Given the description of an element on the screen output the (x, y) to click on. 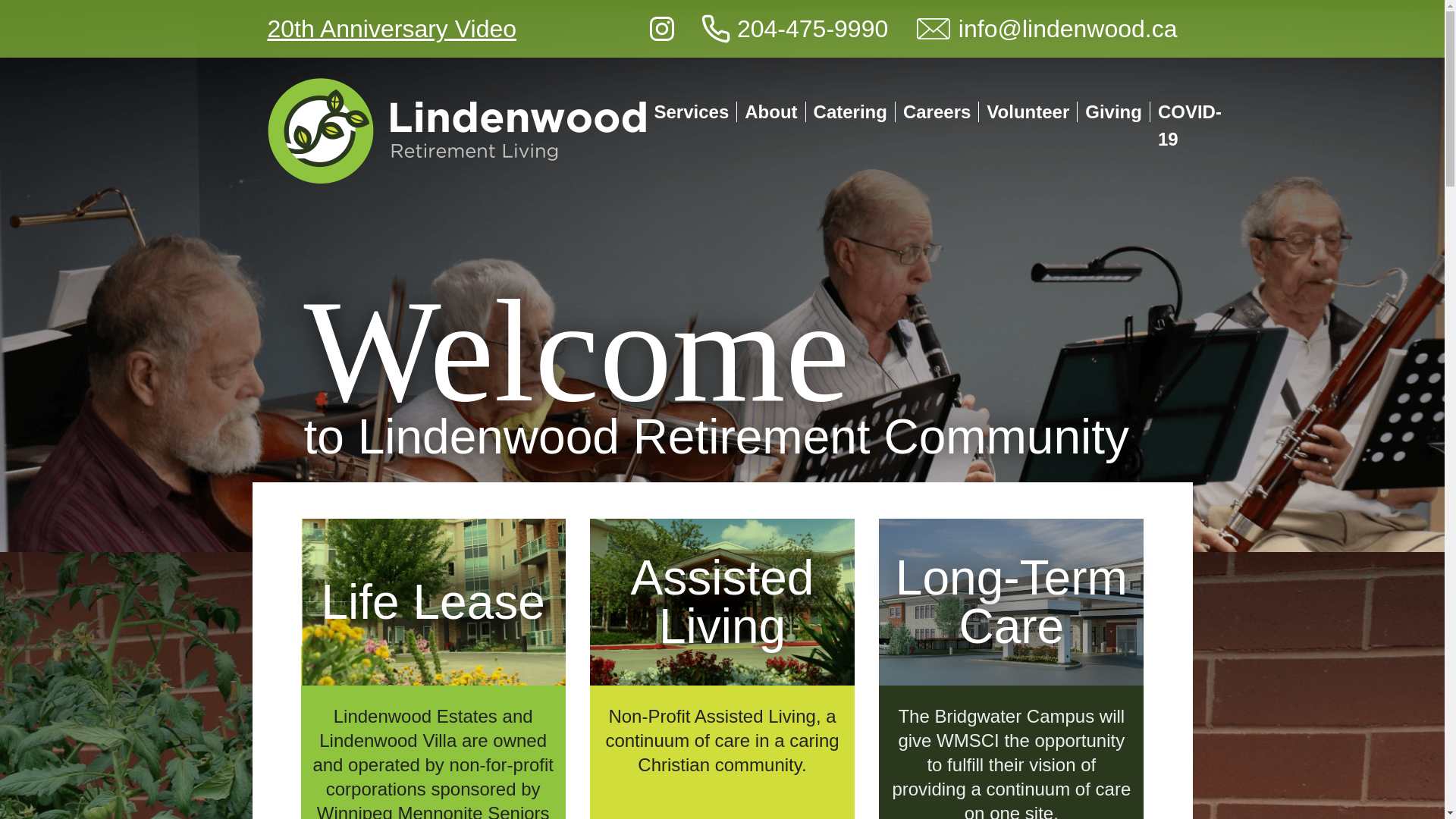
Giving (1117, 111)
204-475-9990 (794, 28)
About (774, 111)
Services (694, 111)
20th Anniversary Video (391, 28)
Volunteer (1032, 111)
Catering (854, 111)
COVID-19 (1189, 125)
Careers (940, 111)
